Given the description of an element on the screen output the (x, y) to click on. 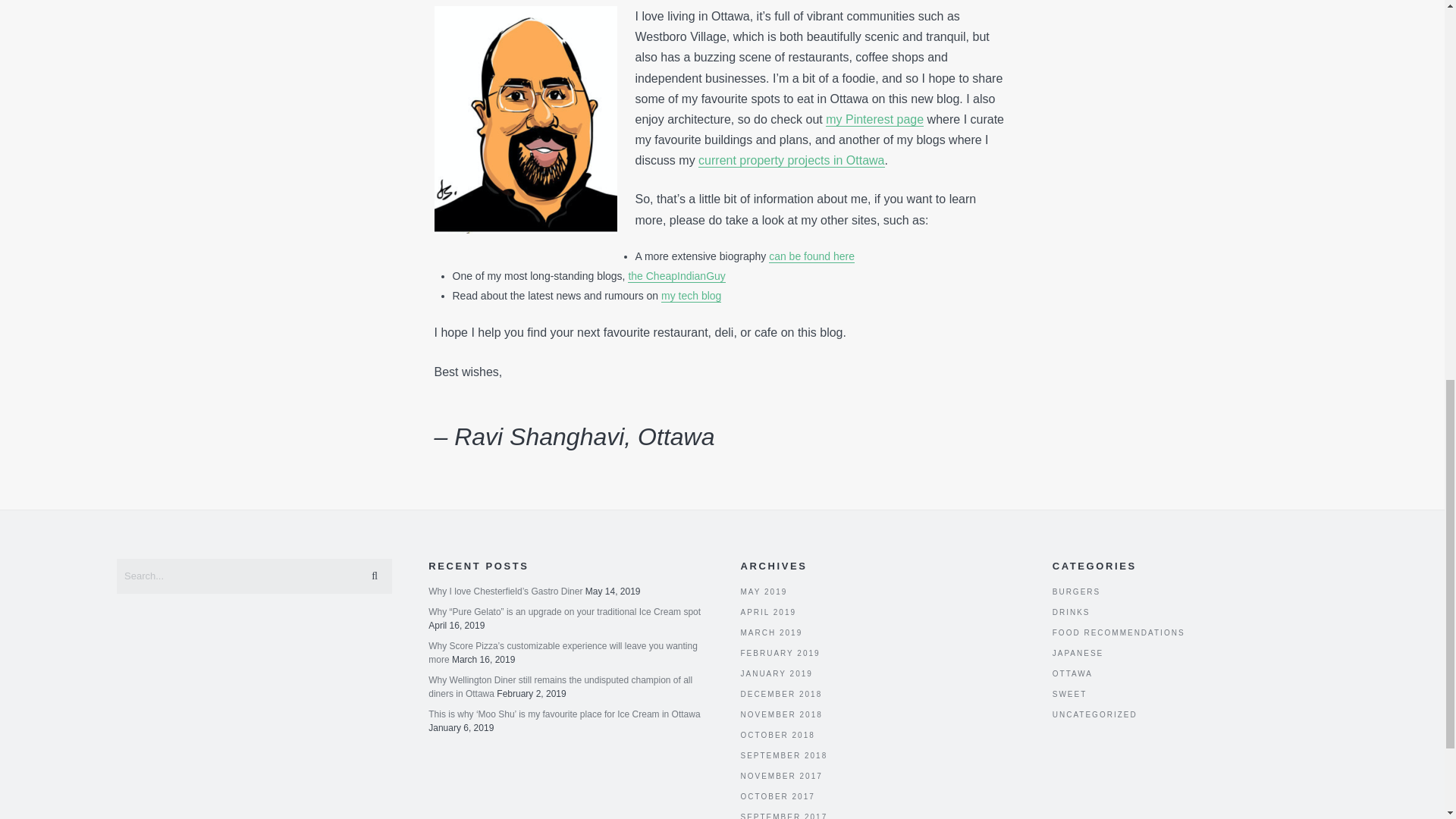
NOVEMBER 2018 (780, 714)
BURGERS (1076, 592)
UNCATEGORIZED (1094, 714)
NOVEMBER 2017 (780, 776)
DECEMBER 2018 (780, 694)
OTTAWA (1072, 673)
SEPTEMBER 2017 (783, 816)
MARCH 2019 (770, 632)
current property projects in Ottawa (790, 160)
DRINKS (1071, 612)
APRIL 2019 (767, 612)
the CheapIndianGuy (676, 276)
my tech blog (690, 295)
JANUARY 2019 (775, 673)
